Given the description of an element on the screen output the (x, y) to click on. 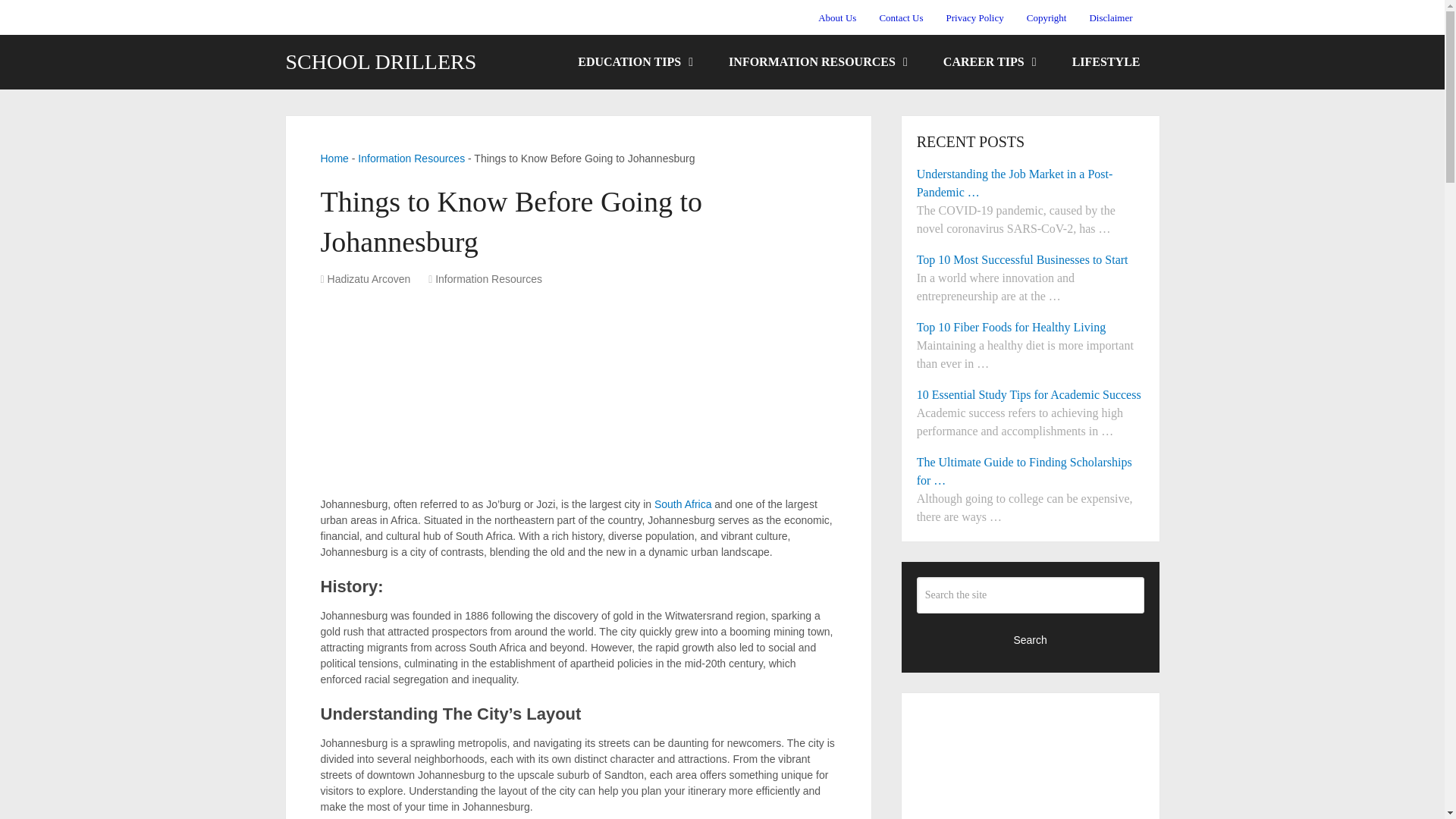
South Africa (682, 503)
View all posts in Information Resources (488, 278)
EDUCATION TIPS (634, 62)
Information Resources (411, 158)
Hadizatu Arcoven (368, 278)
Posts by Hadizatu Arcoven (368, 278)
Copyright (1046, 17)
INFORMATION RESOURCES (817, 62)
SCHOOL DRILLERS (380, 61)
LIFESTYLE (1105, 62)
About Us (842, 17)
Disclaimer (1109, 17)
Home (333, 158)
Privacy Policy (974, 17)
CAREER TIPS (988, 62)
